Given the description of an element on the screen output the (x, y) to click on. 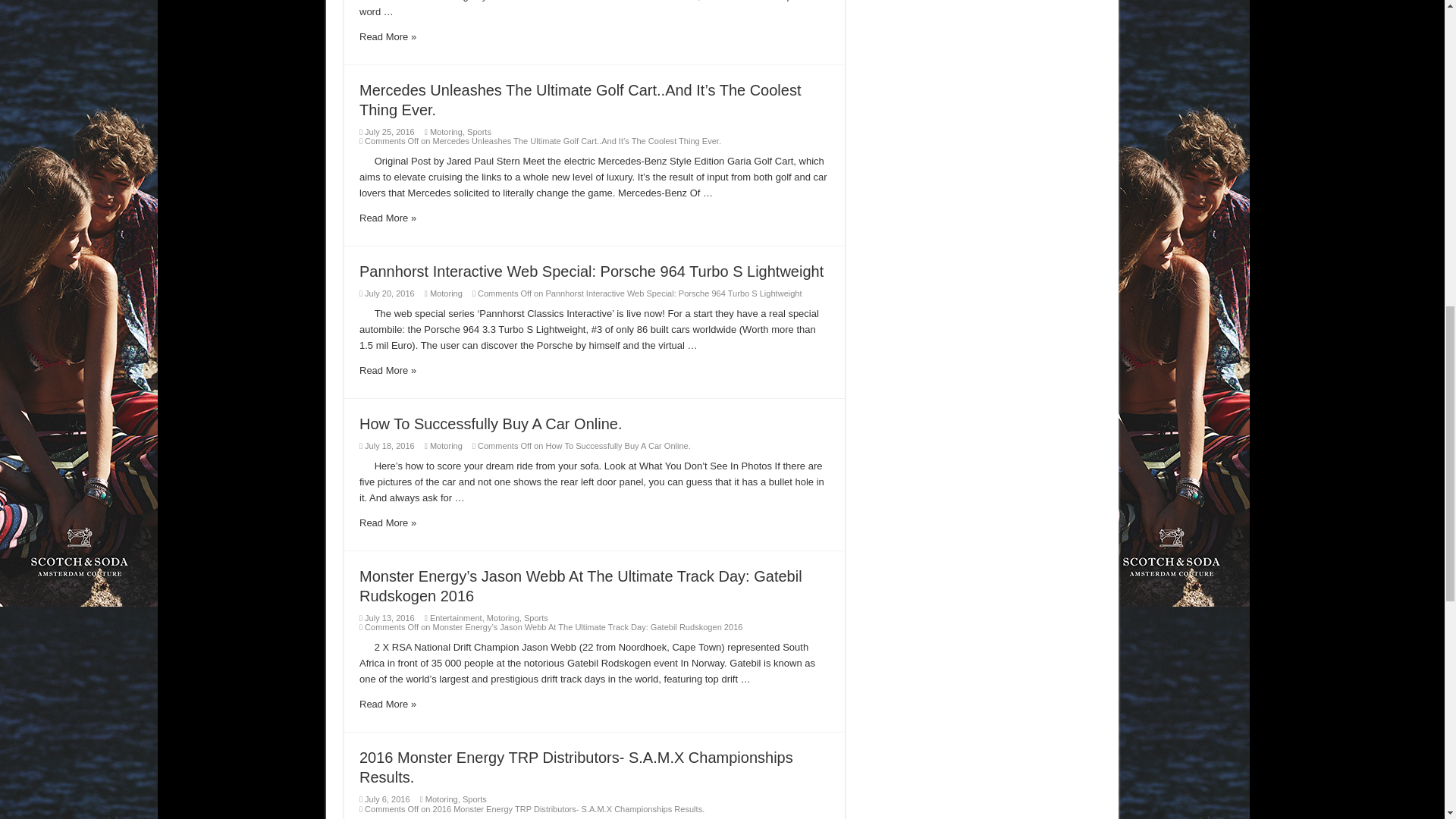
Motoring (446, 131)
Motoring (446, 445)
Sports (479, 131)
Motoring (446, 293)
